Given the description of an element on the screen output the (x, y) to click on. 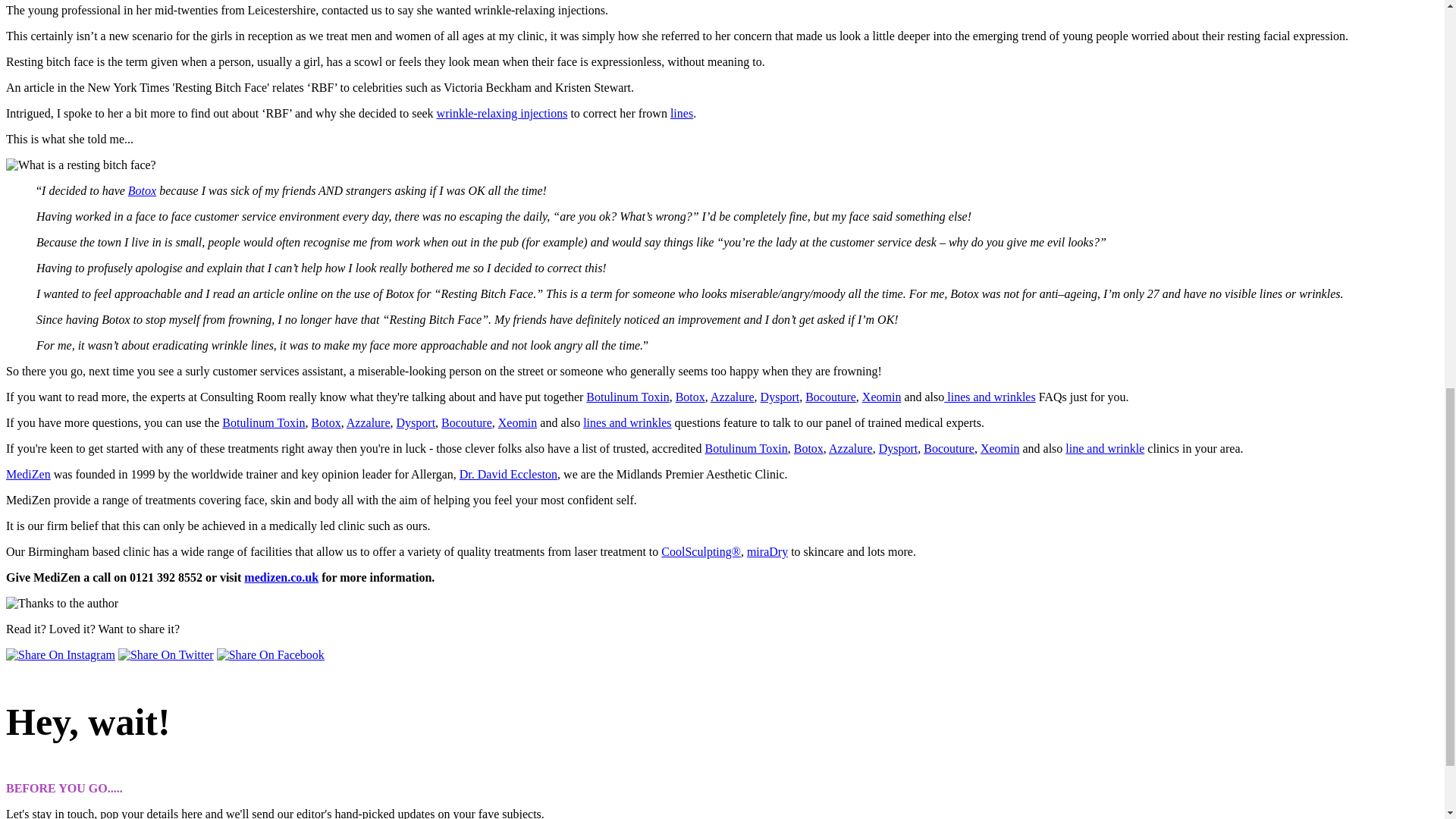
Botox (141, 190)
wrinkle-relaxing injections (501, 113)
Botulinum Toxin (627, 396)
lines (681, 113)
